Given the description of an element on the screen output the (x, y) to click on. 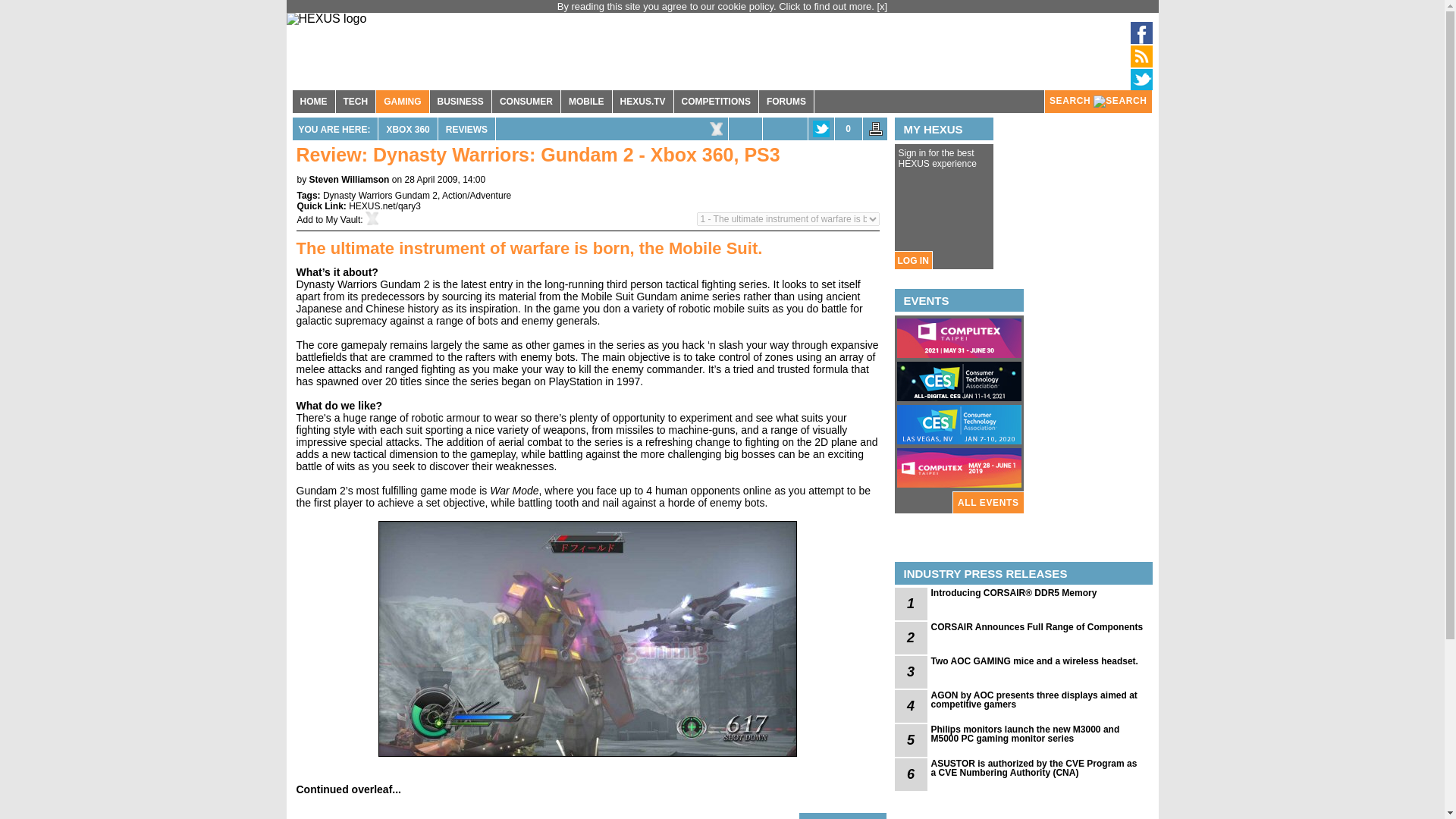
Discuss in the HEXUS Forums (847, 128)
Steven Williamson (349, 179)
MOBILE (585, 101)
1 (911, 603)
GAMING (401, 101)
LOG IN (912, 260)
3 (911, 672)
REVIEWS (466, 128)
My Vault (343, 219)
FORUMS (785, 101)
